Given the description of an element on the screen output the (x, y) to click on. 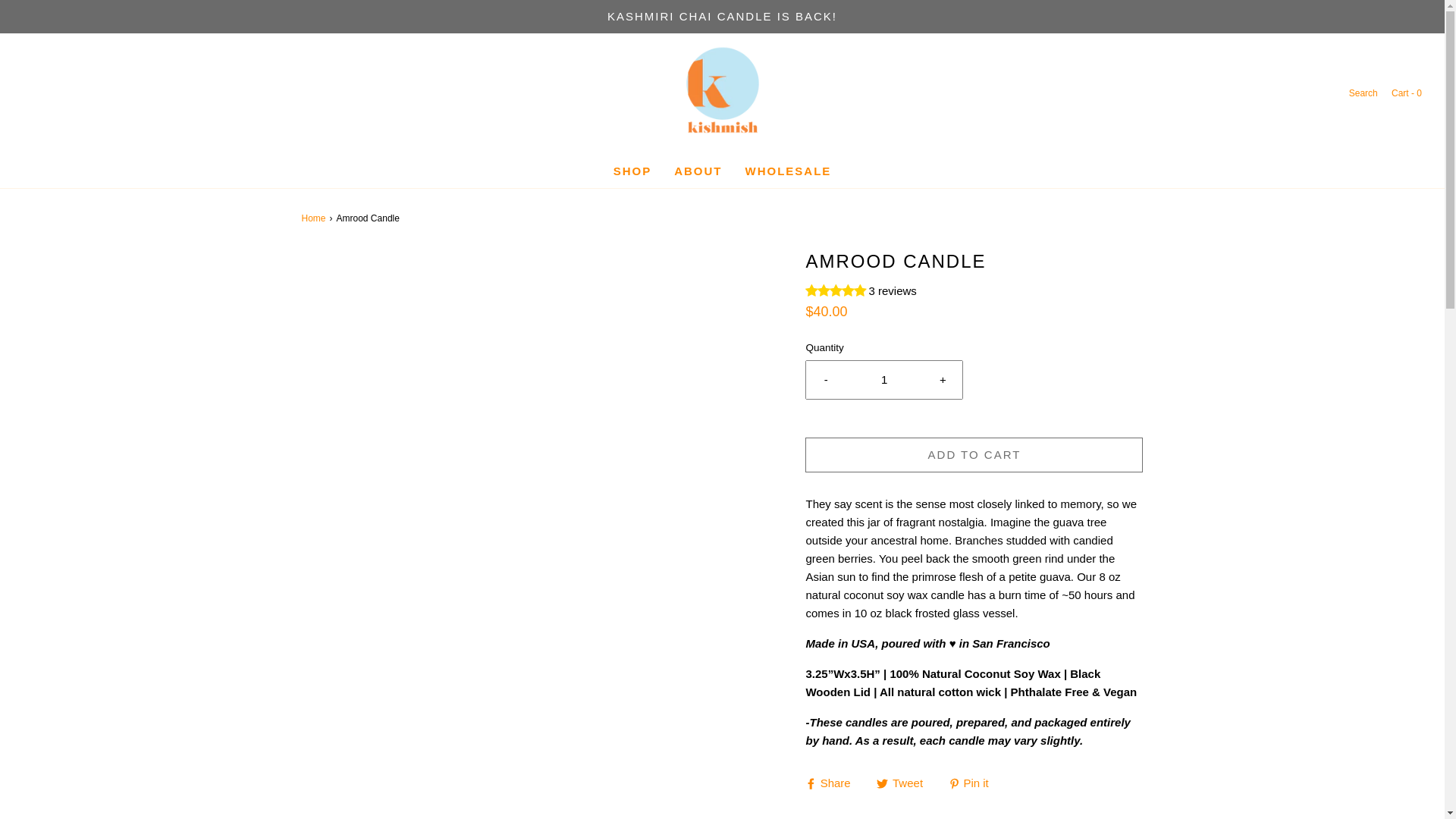
Back to the frontpage (315, 218)
Search (1361, 93)
1 (884, 379)
Cart (1405, 93)
